Given the description of an element on the screen output the (x, y) to click on. 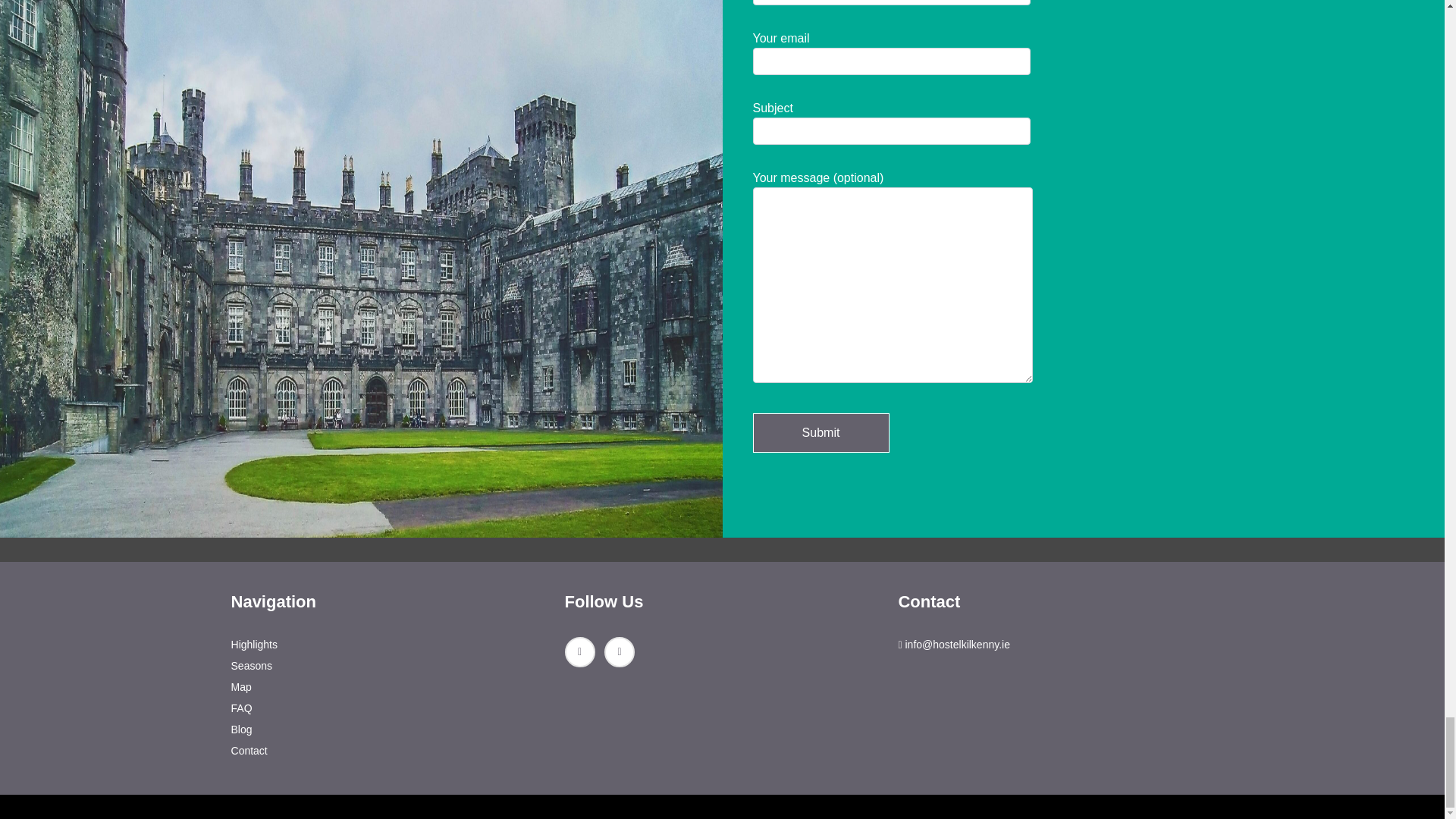
Contact (249, 750)
Map (241, 686)
Blog (241, 729)
Seasons (251, 665)
Submit (820, 432)
Submit (820, 432)
FAQ (241, 707)
Highlights (254, 644)
